Given the description of an element on the screen output the (x, y) to click on. 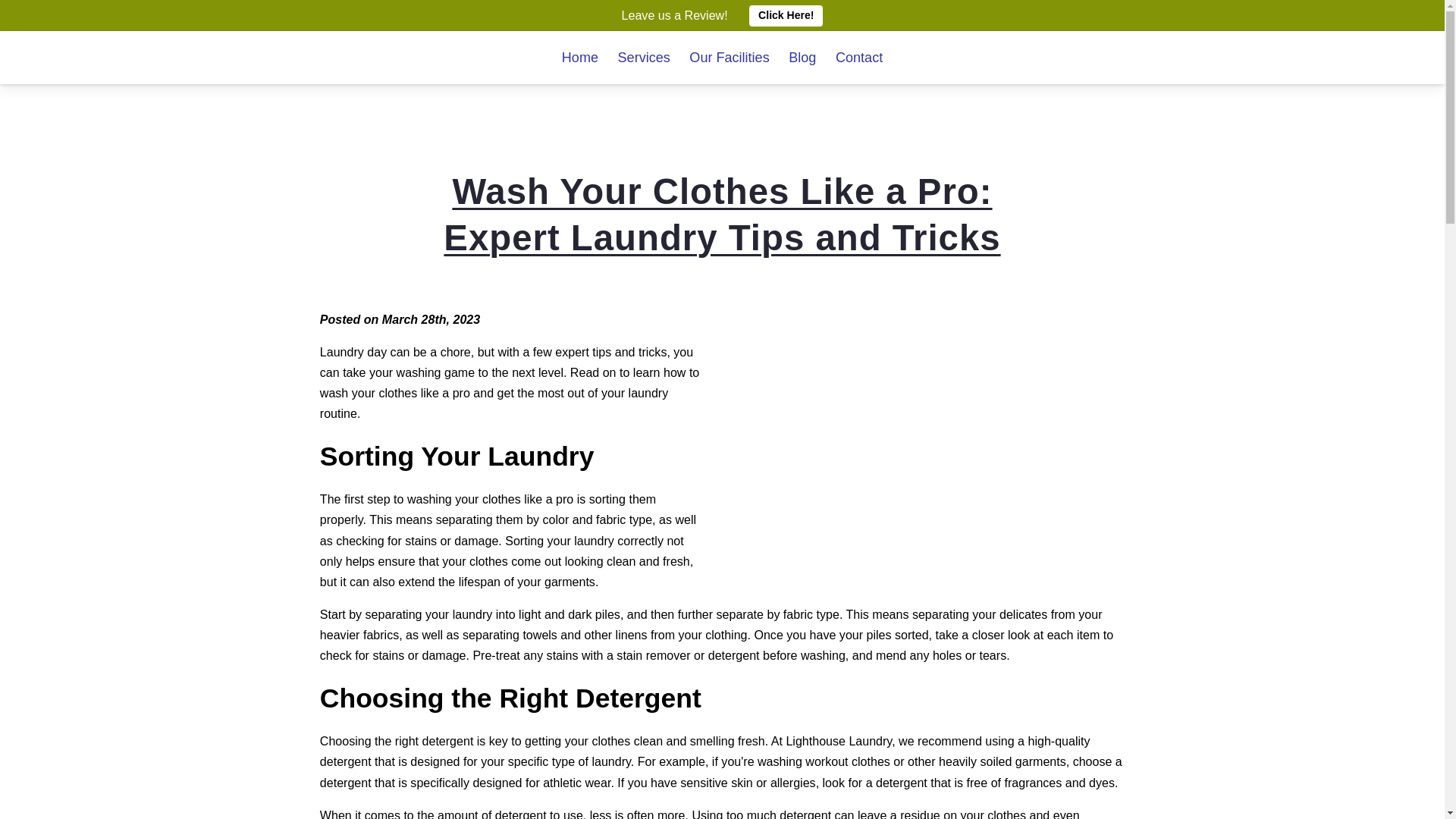
Services (643, 57)
Our Facilities (728, 57)
Click Here! (785, 15)
